Given the description of an element on the screen output the (x, y) to click on. 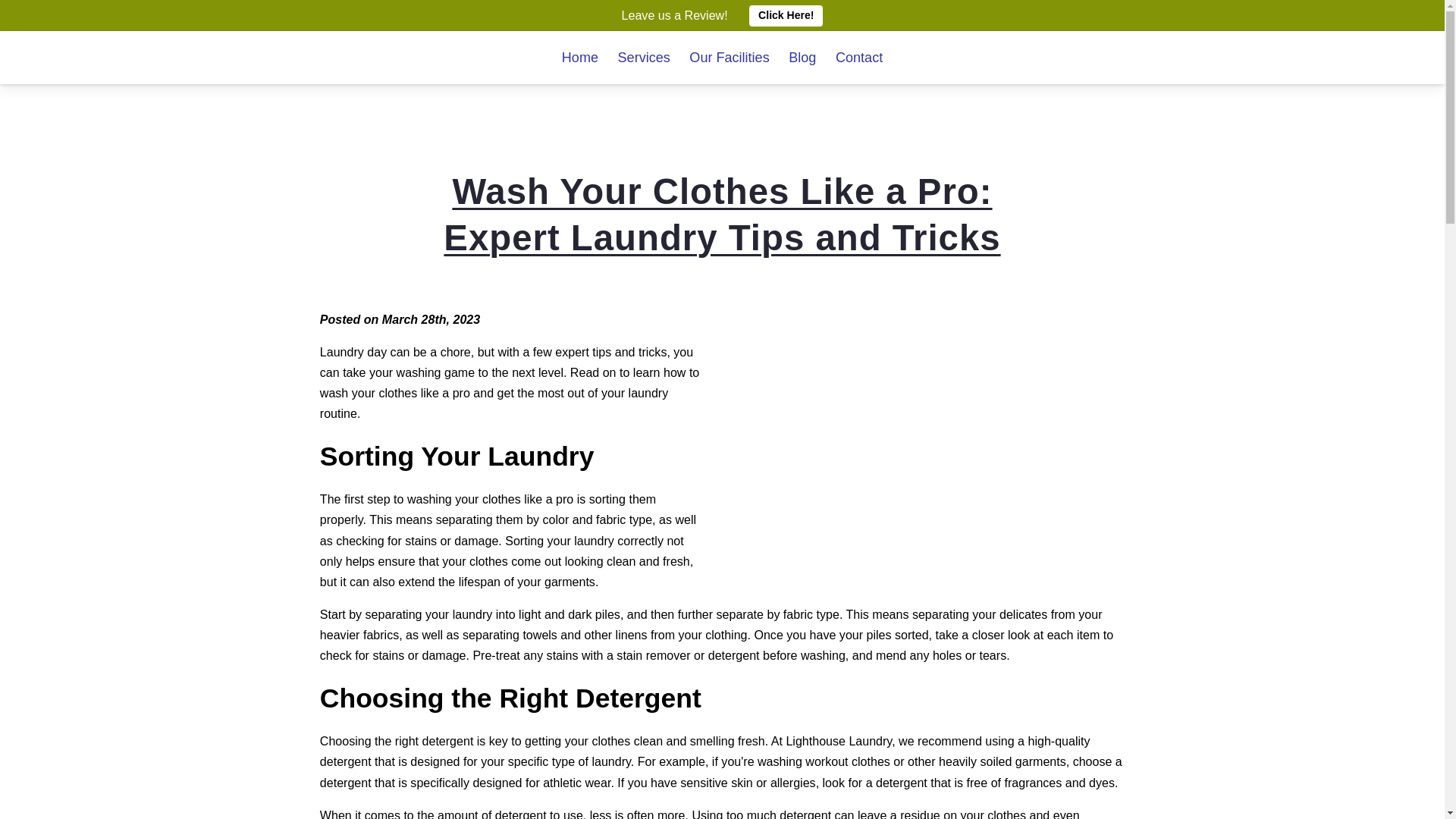
Services (643, 57)
Our Facilities (728, 57)
Click Here! (785, 15)
